Given the description of an element on the screen output the (x, y) to click on. 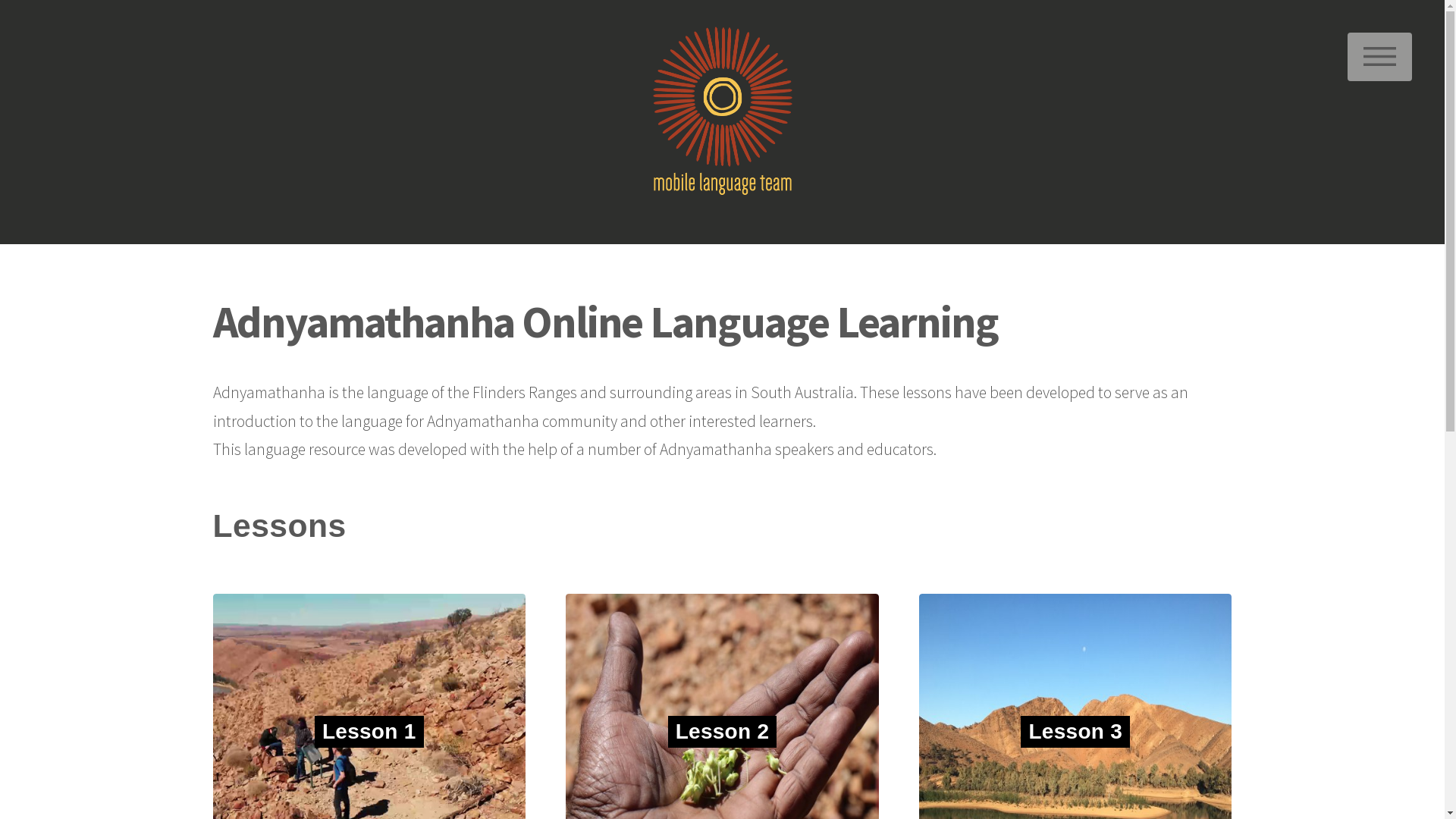
MENU Element type: text (1379, 56)
